Given the description of an element on the screen output the (x, y) to click on. 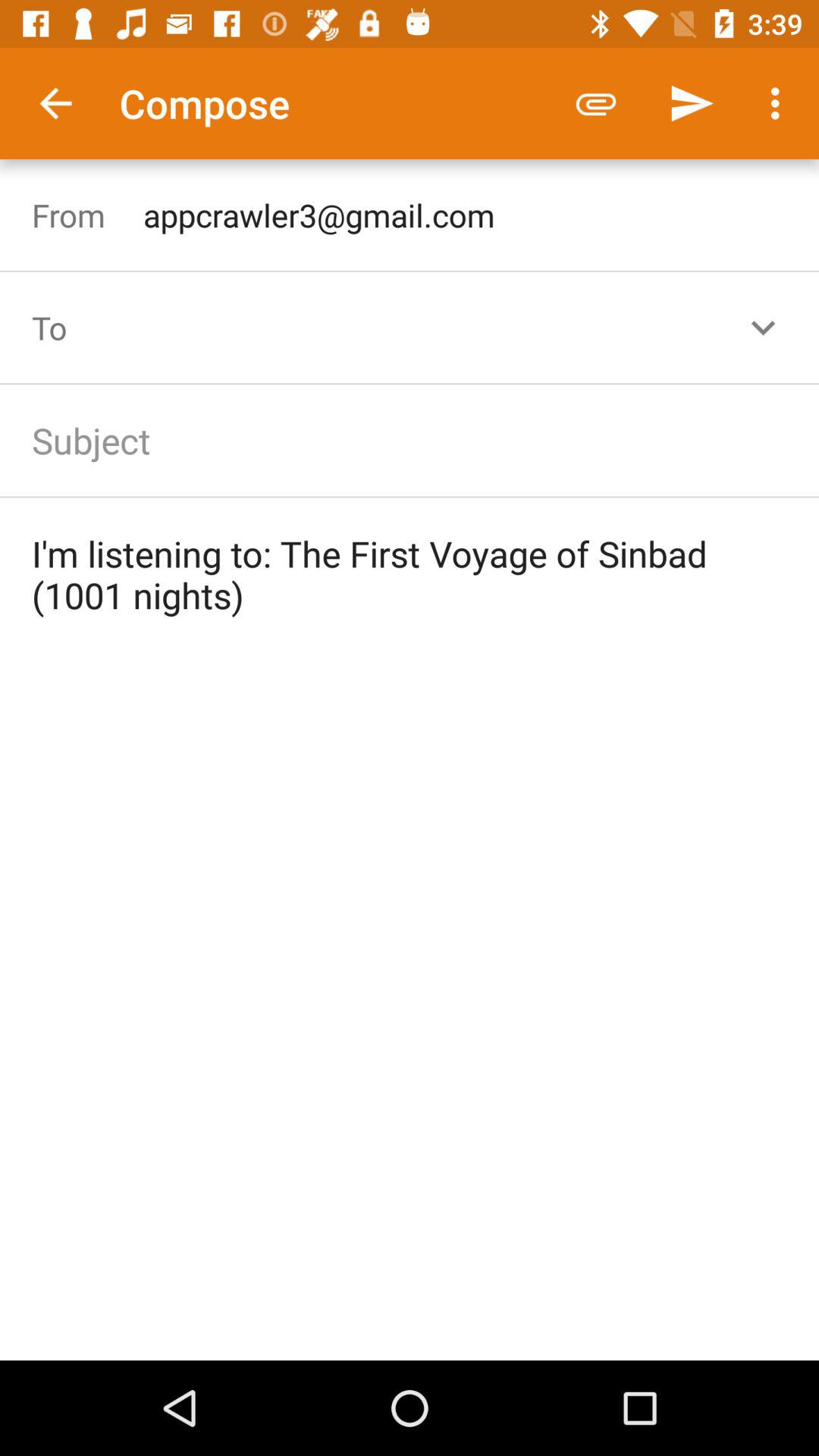
tap the icon above the from icon (55, 103)
